Given the description of an element on the screen output the (x, y) to click on. 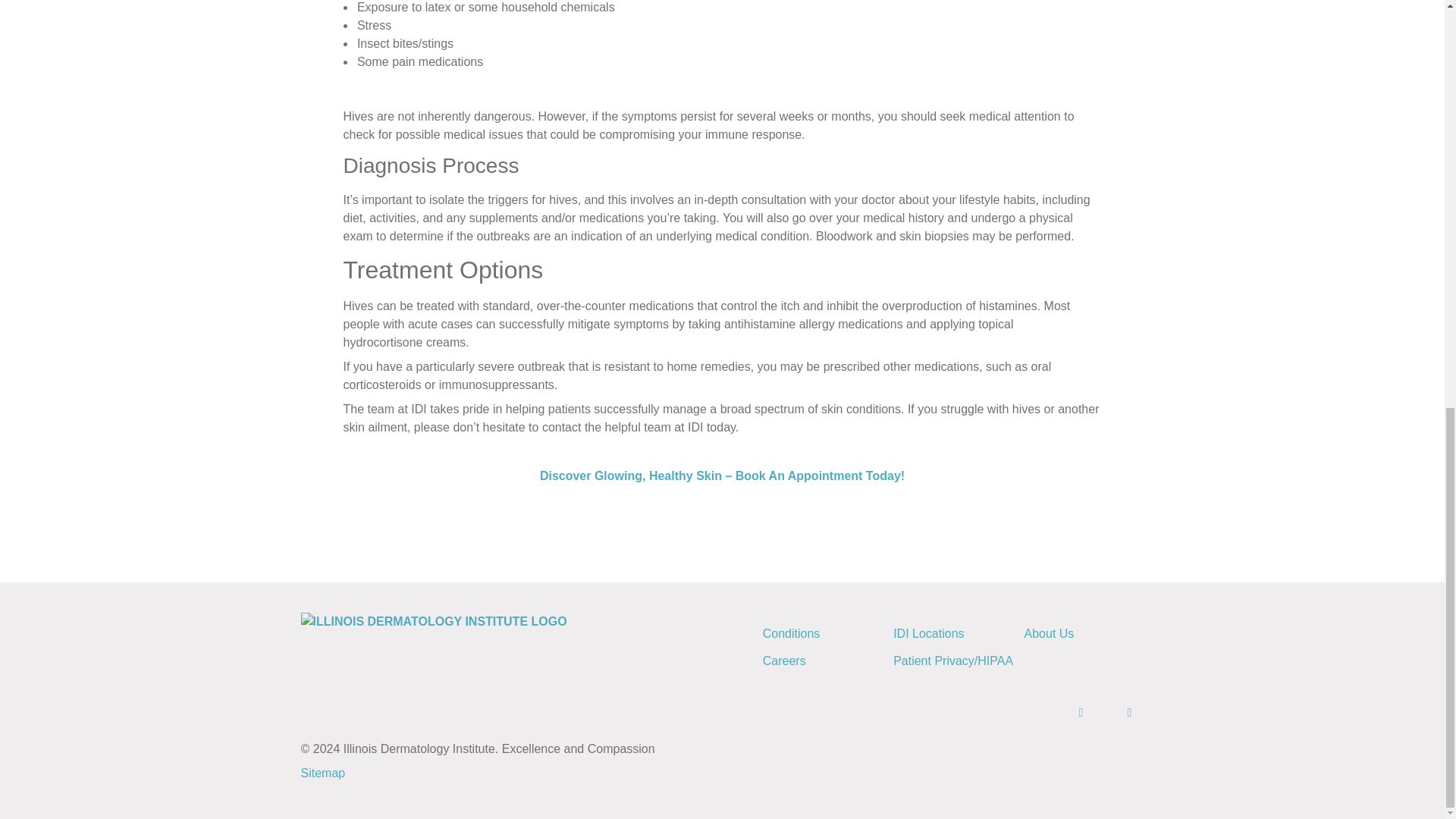
Instagram (1115, 712)
Facebook (1067, 712)
